Given the description of an element on the screen output the (x, y) to click on. 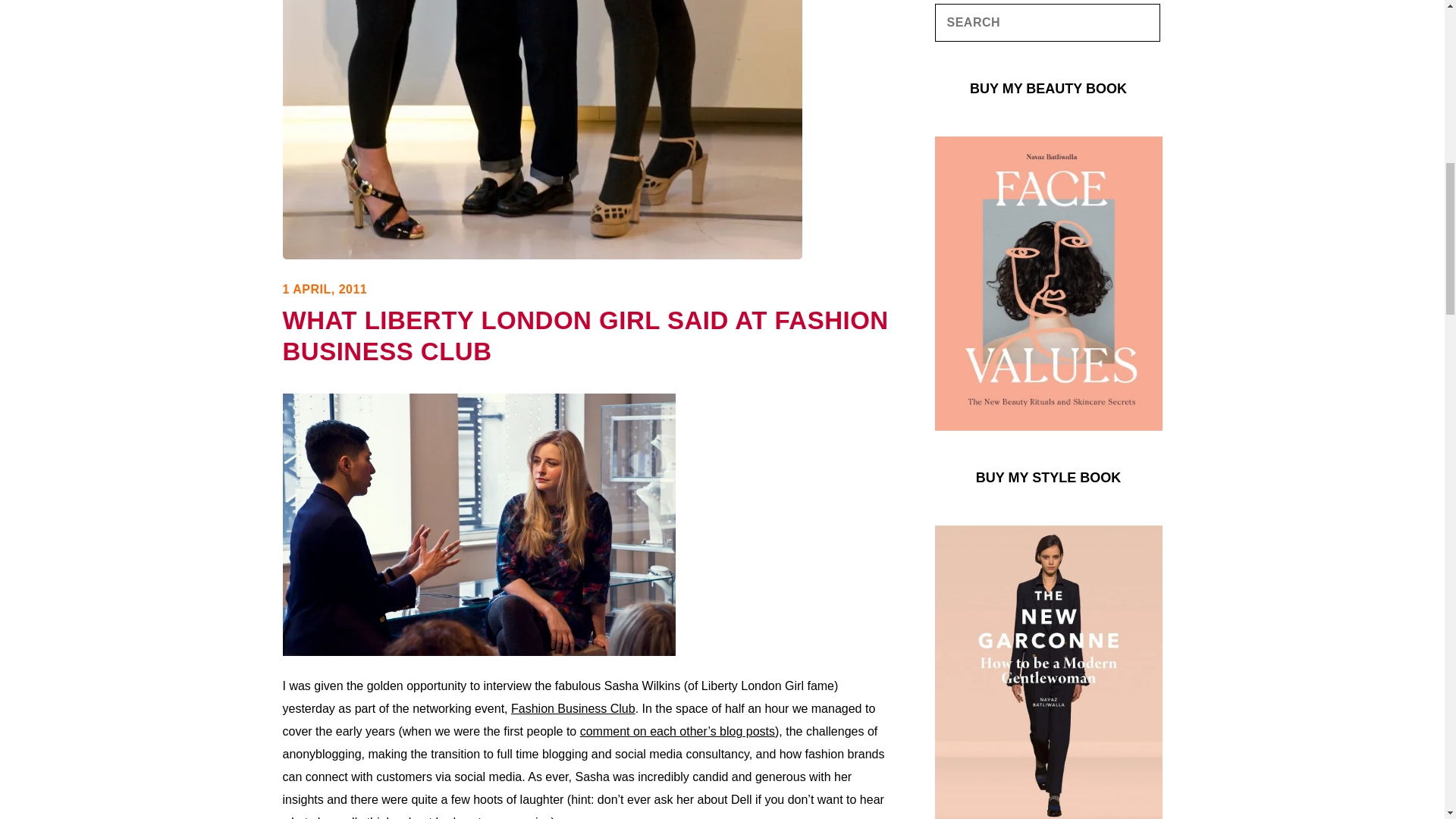
Fashion Business Club (572, 707)
the-new-garconne-book (1047, 812)
FBC2 (478, 524)
What Liberty London Girl said at Fashion Business Club (585, 335)
What Liberty London Girl said at Fashion Business Club (542, 254)
face-values (1047, 418)
WHAT LIBERTY LONDON GIRL SAID AT FASHION BUSINESS CLUB (585, 335)
